Given the description of an element on the screen output the (x, y) to click on. 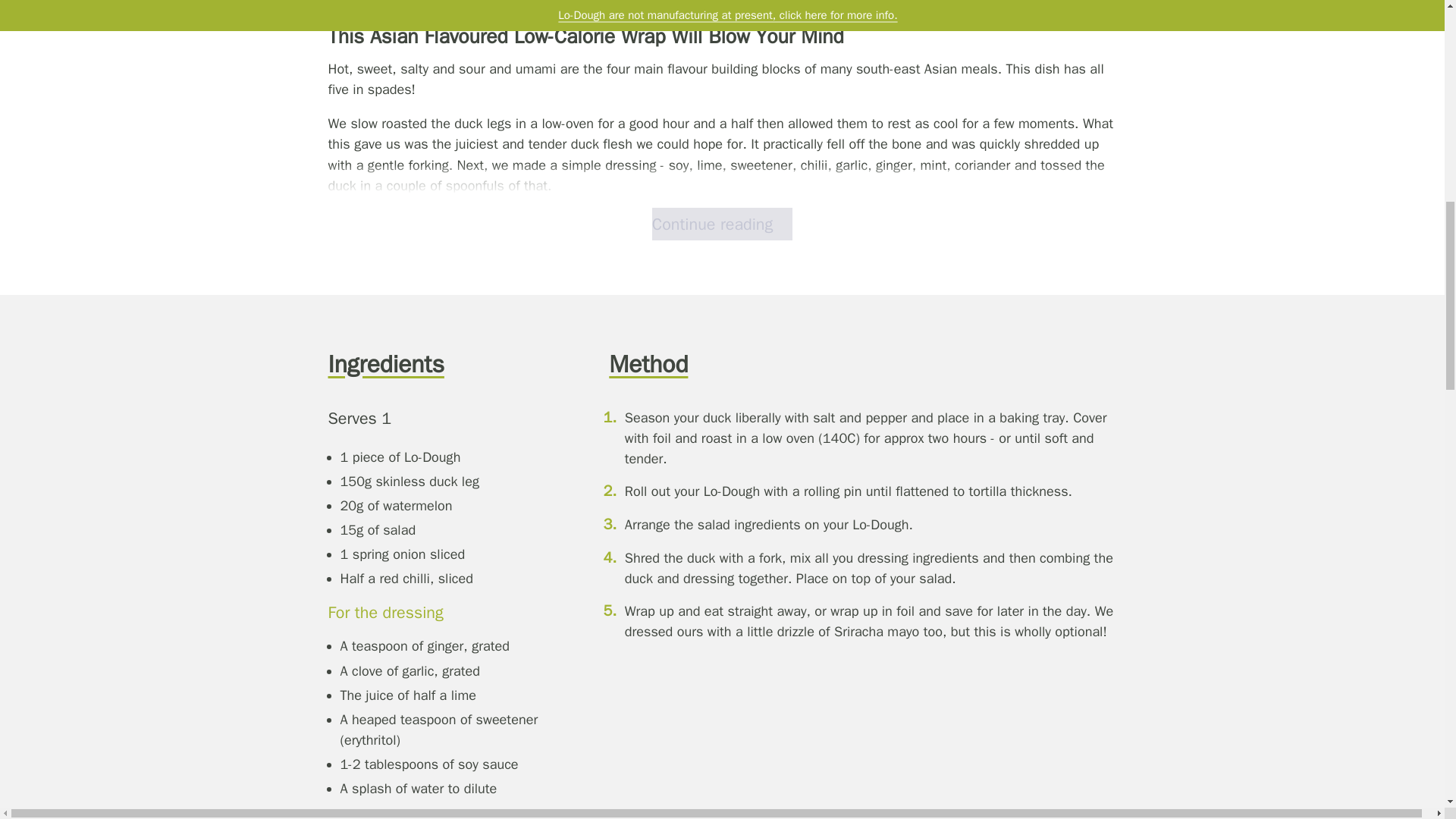
Continue reading (722, 224)
